Given the description of an element on the screen output the (x, y) to click on. 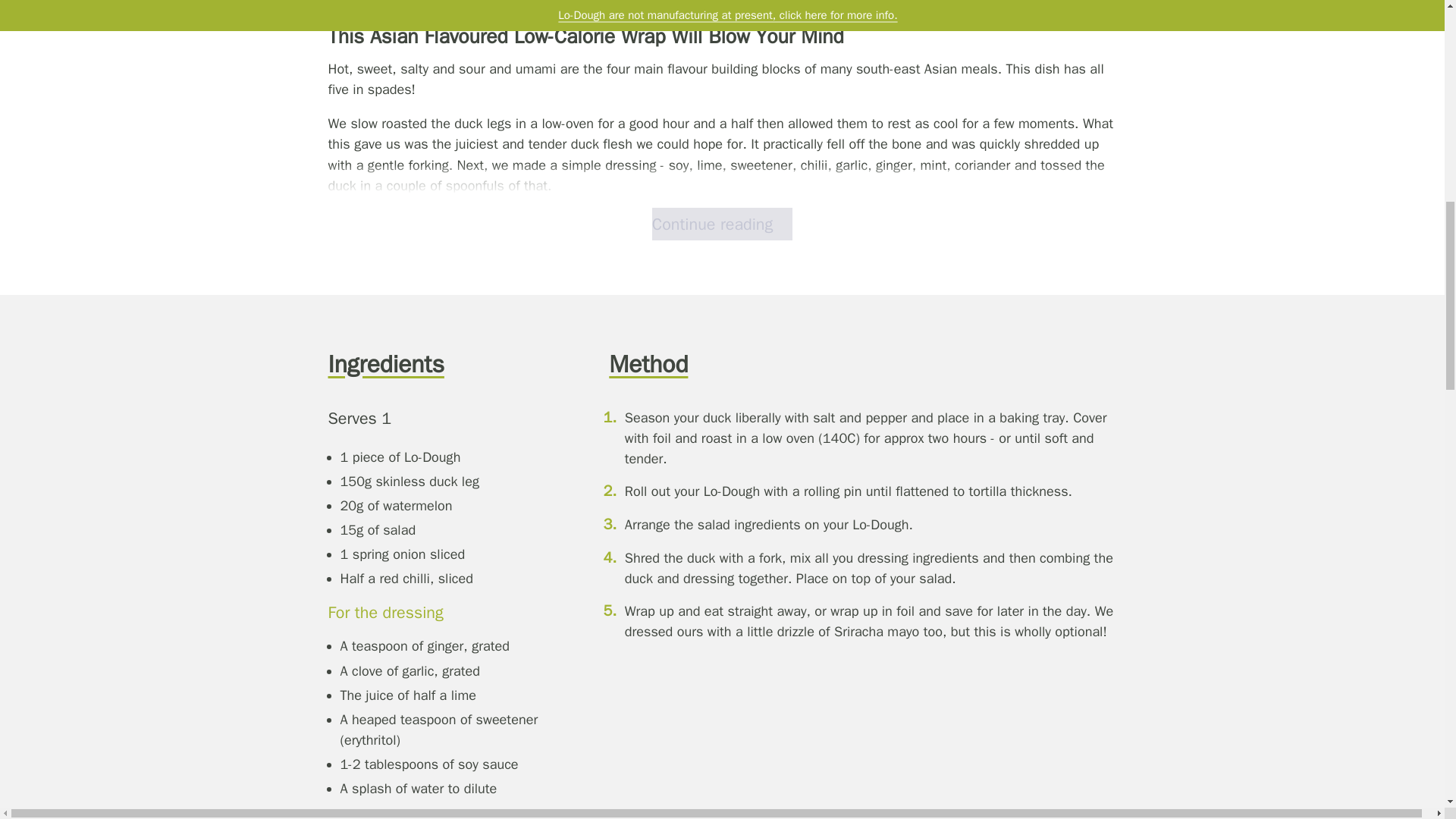
Continue reading (722, 224)
